Given the description of an element on the screen output the (x, y) to click on. 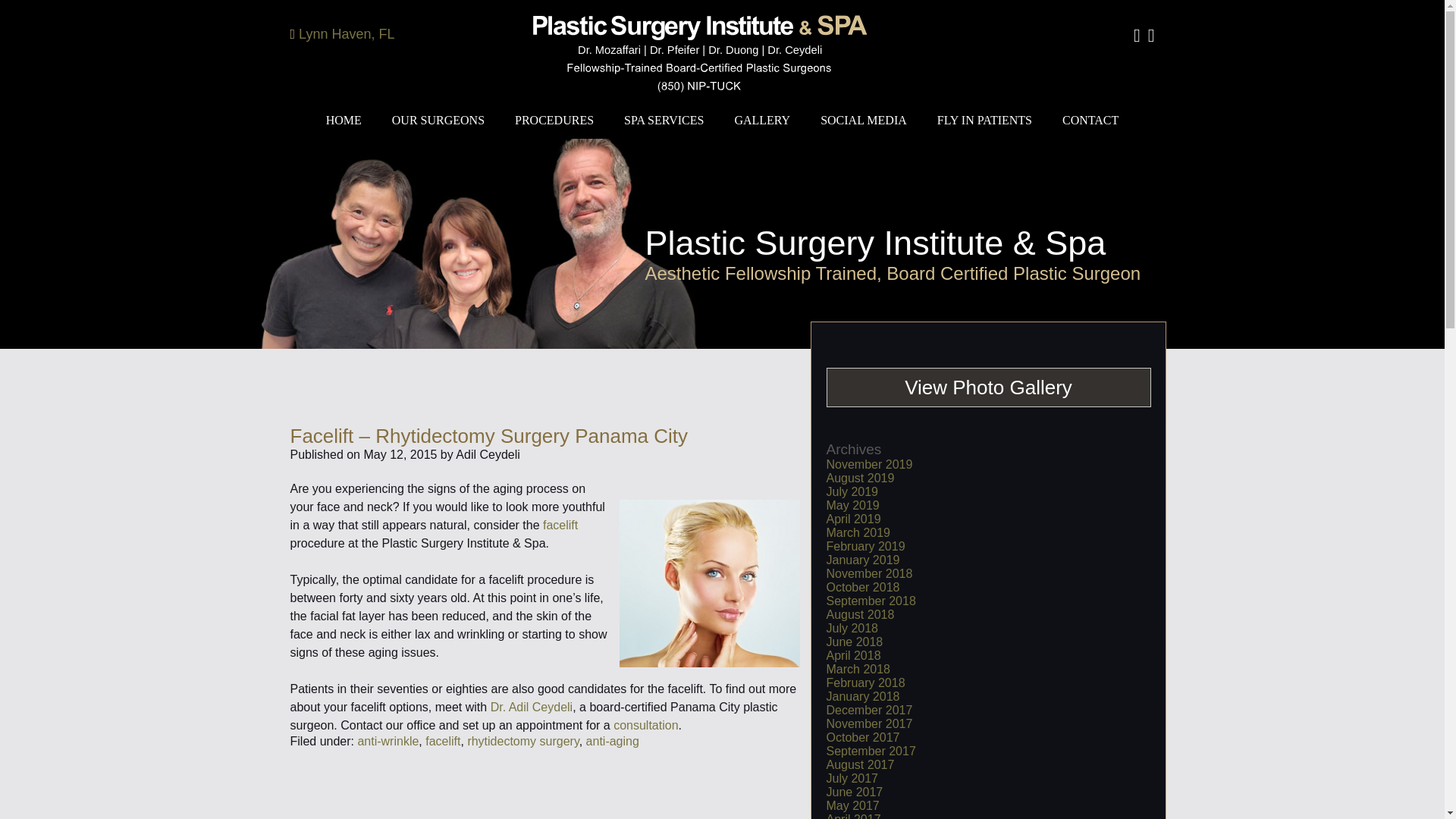
Facelift (560, 524)
Lynn Haven, FL (346, 33)
Arrange a consultation (645, 725)
Dr. Adil Ceydeli (531, 707)
